Given the description of an element on the screen output the (x, y) to click on. 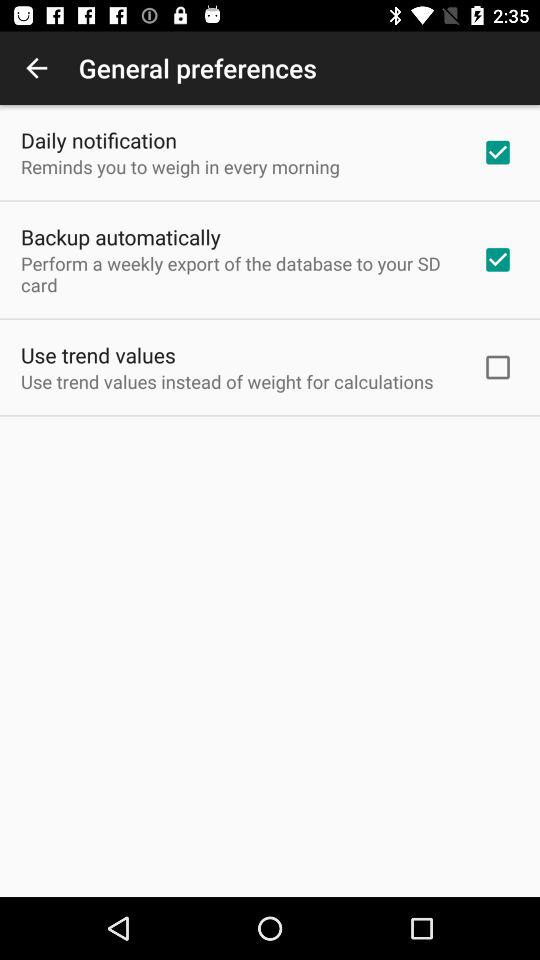
turn off the icon above perform a weekly app (120, 236)
